Given the description of an element on the screen output the (x, y) to click on. 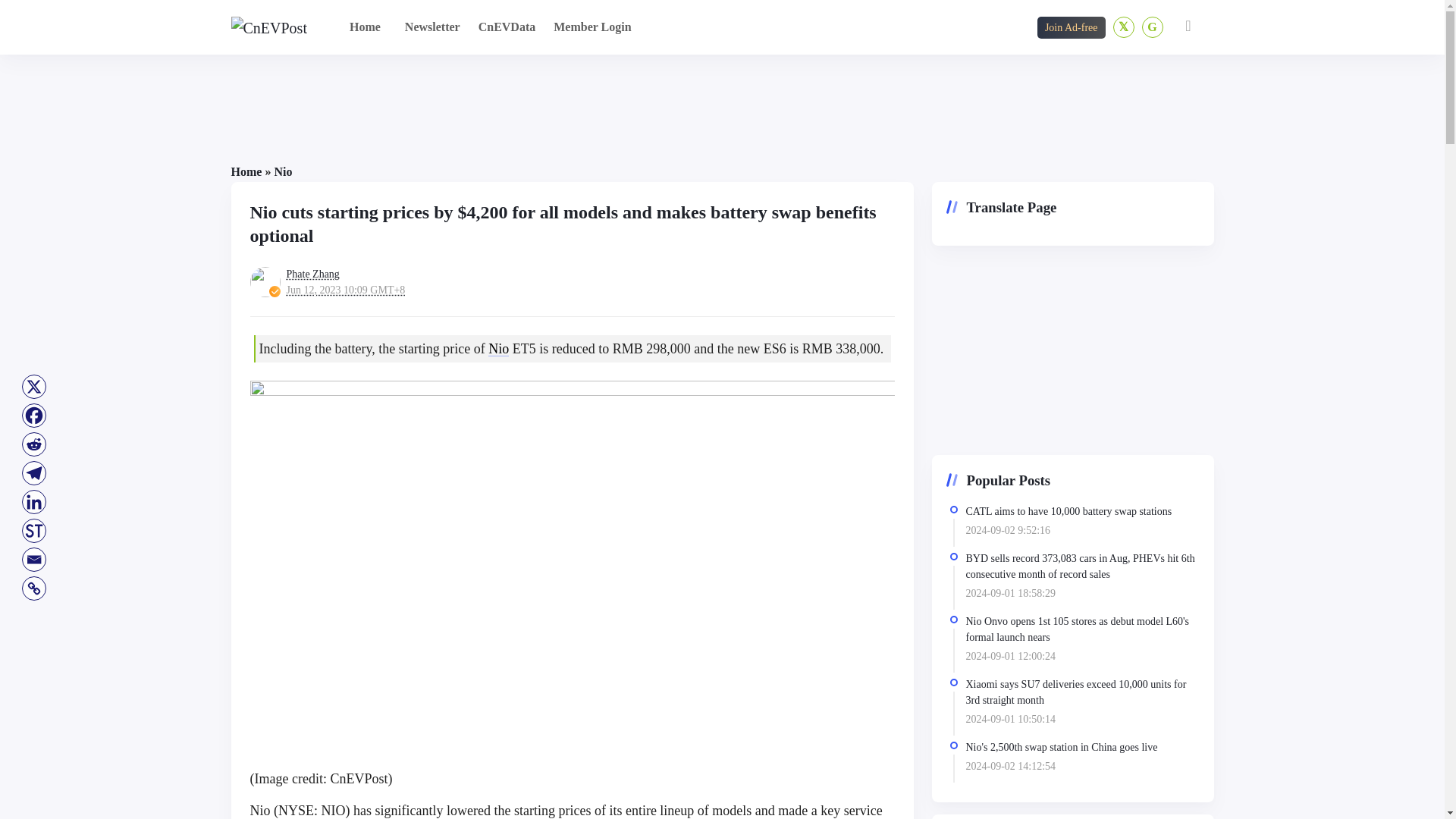
X (34, 386)
Home (365, 27)
Nio (497, 348)
Home (246, 171)
CnEVData (506, 27)
G (1152, 26)
Join Ad-free (1070, 27)
Facebook (34, 415)
Member Login (592, 27)
Nio (282, 171)
